Given the description of an element on the screen output the (x, y) to click on. 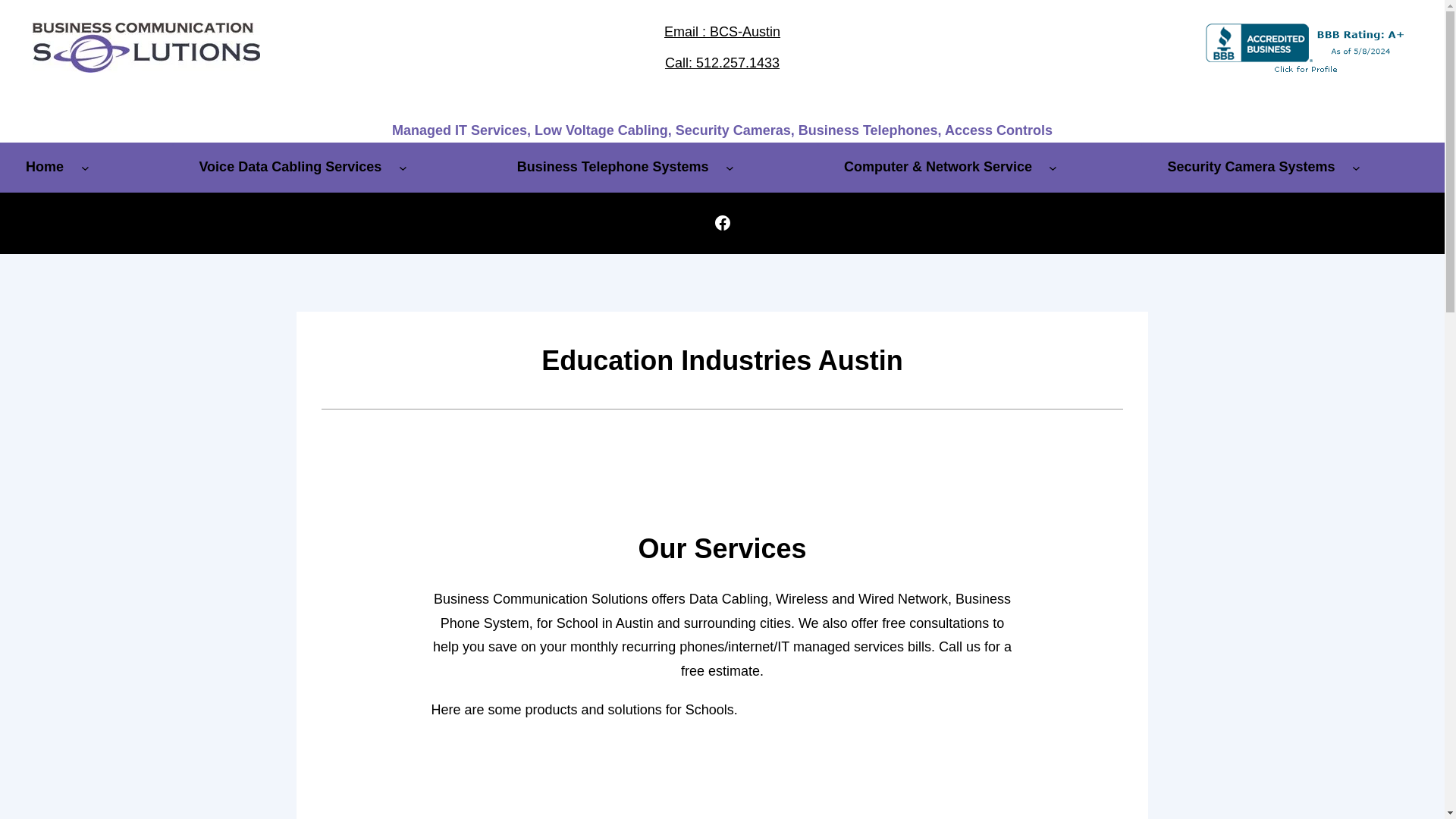
Voice Data Cabling Services (289, 167)
Email : BCS-Austin (721, 31)
Business Telephone Systems (612, 167)
bcs austin logo (146, 47)
Home (44, 167)
Call: 512.257.1433 (721, 61)
